Given the description of an element on the screen output the (x, y) to click on. 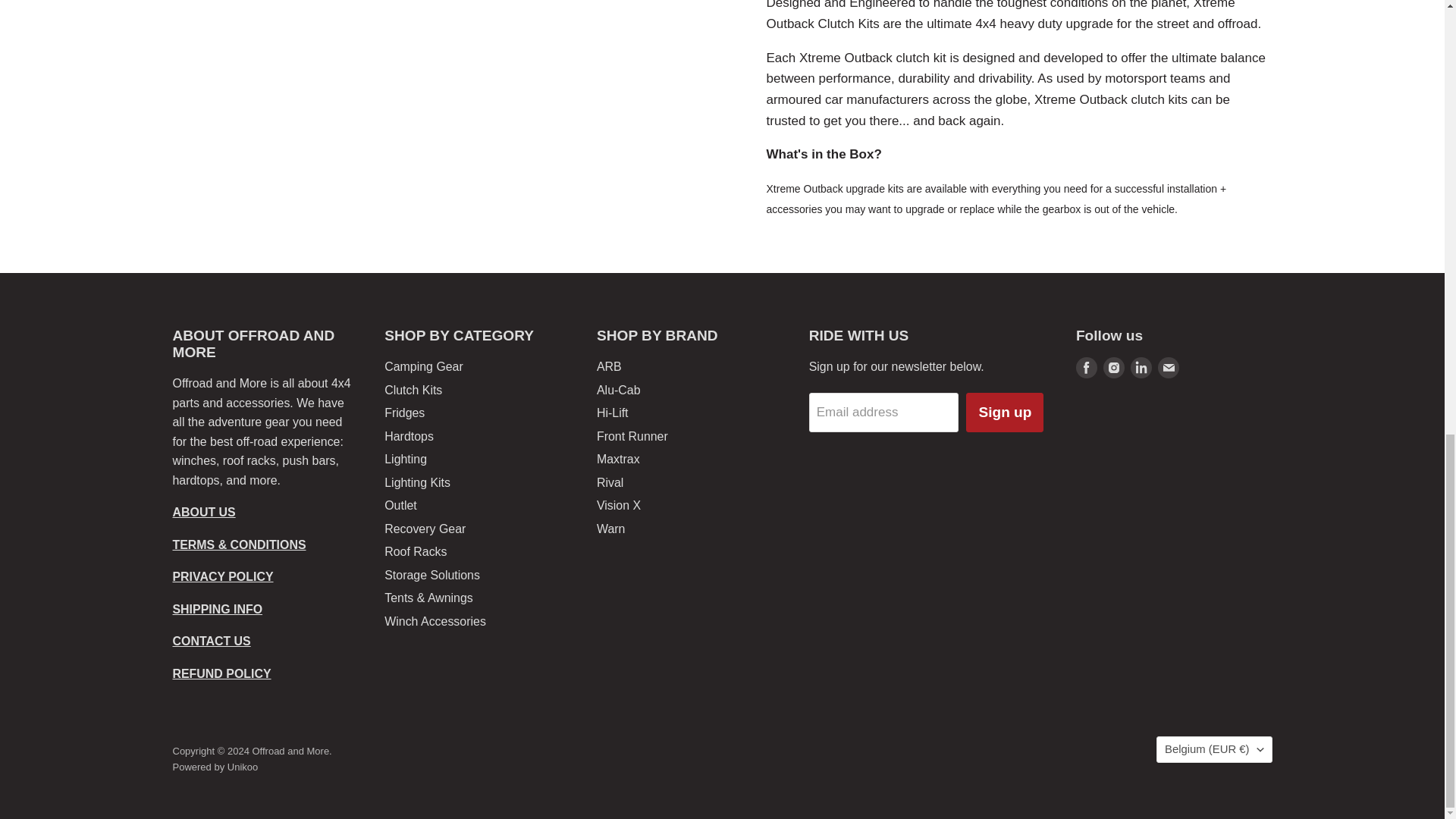
Terms of Service (239, 544)
About Us (204, 512)
Shipping Policy (218, 608)
Contact (211, 640)
Privacy Policy (223, 576)
Refund Policy (221, 673)
